Given the description of an element on the screen output the (x, y) to click on. 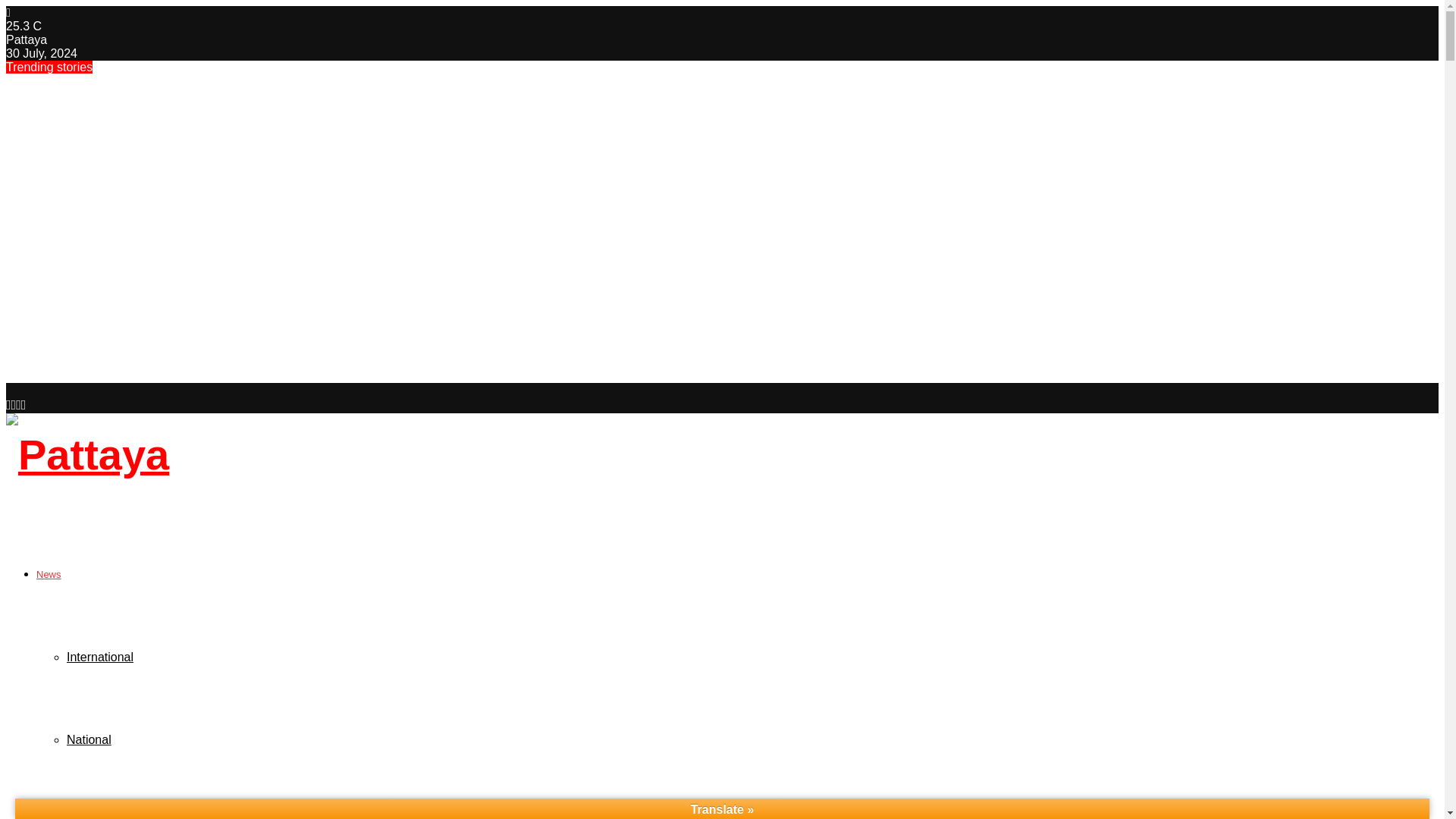
Luck to be Alive as Steel plate smashes windscreen (180, 126)
News (48, 573)
Pattaya One News (147, 817)
Polish Cannabis Farm Consultant Arrested (150, 250)
Monk Selling Illegal Drugs (94, 157)
Strangled by low Cable (83, 374)
Thai Army needs armed drones and helicopters (165, 220)
Brother and Sister found dead in a Parked Car (161, 281)
Serial Thief Hits Restaurant Again (119, 96)
International (99, 656)
Short Change Indian Scams Pattaya (126, 342)
Thirty Dogs Need Care After Owner Dies (141, 188)
Police team up against Scammers (120, 312)
National (89, 739)
